Given the description of an element on the screen output the (x, y) to click on. 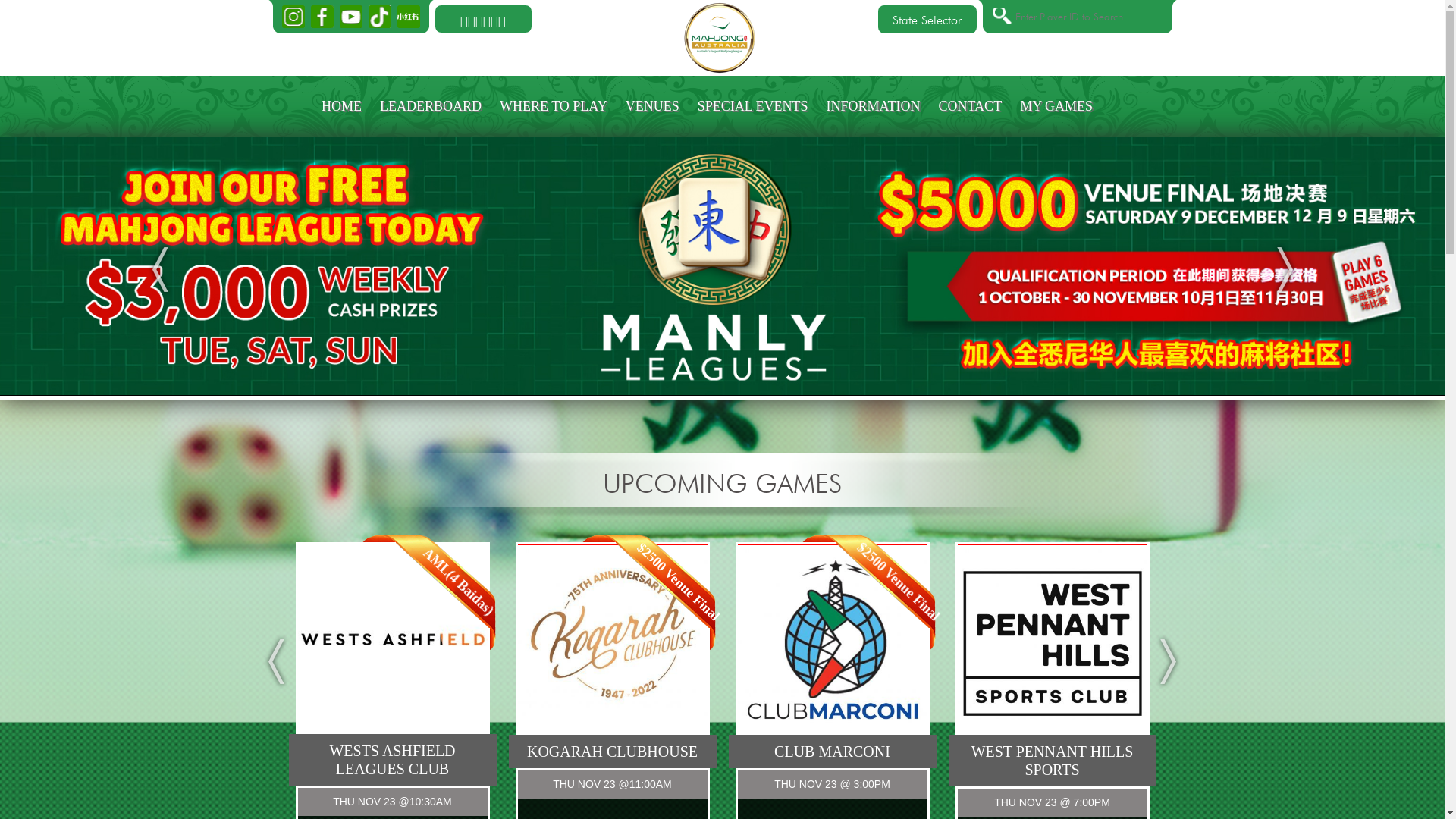
WESTS ASHFIELD LEAGUES CLUB Element type: text (391, 759)
INFORMATION Element type: text (873, 105)
Prev Element type: text (159, 269)
CONTACT Element type: text (970, 105)
WHERE TO PLAY Element type: text (553, 105)
WEST PENNANT HILLS SPORTS Element type: text (1051, 760)
Next Element type: text (1284, 269)
LEADERBOARD Element type: text (430, 105)
Prev Element type: text (275, 661)
MY GAMES Element type: text (1055, 105)
SPECIAL EVENTS Element type: text (752, 105)
VENUES Element type: text (652, 105)
CLUB MARCONI Element type: text (831, 751)
KOGARAH CLUBHOUSE Element type: text (611, 751)
State Selector Element type: text (927, 18)
Next Element type: text (1167, 661)
HOME Element type: text (341, 105)
